Given the description of an element on the screen output the (x, y) to click on. 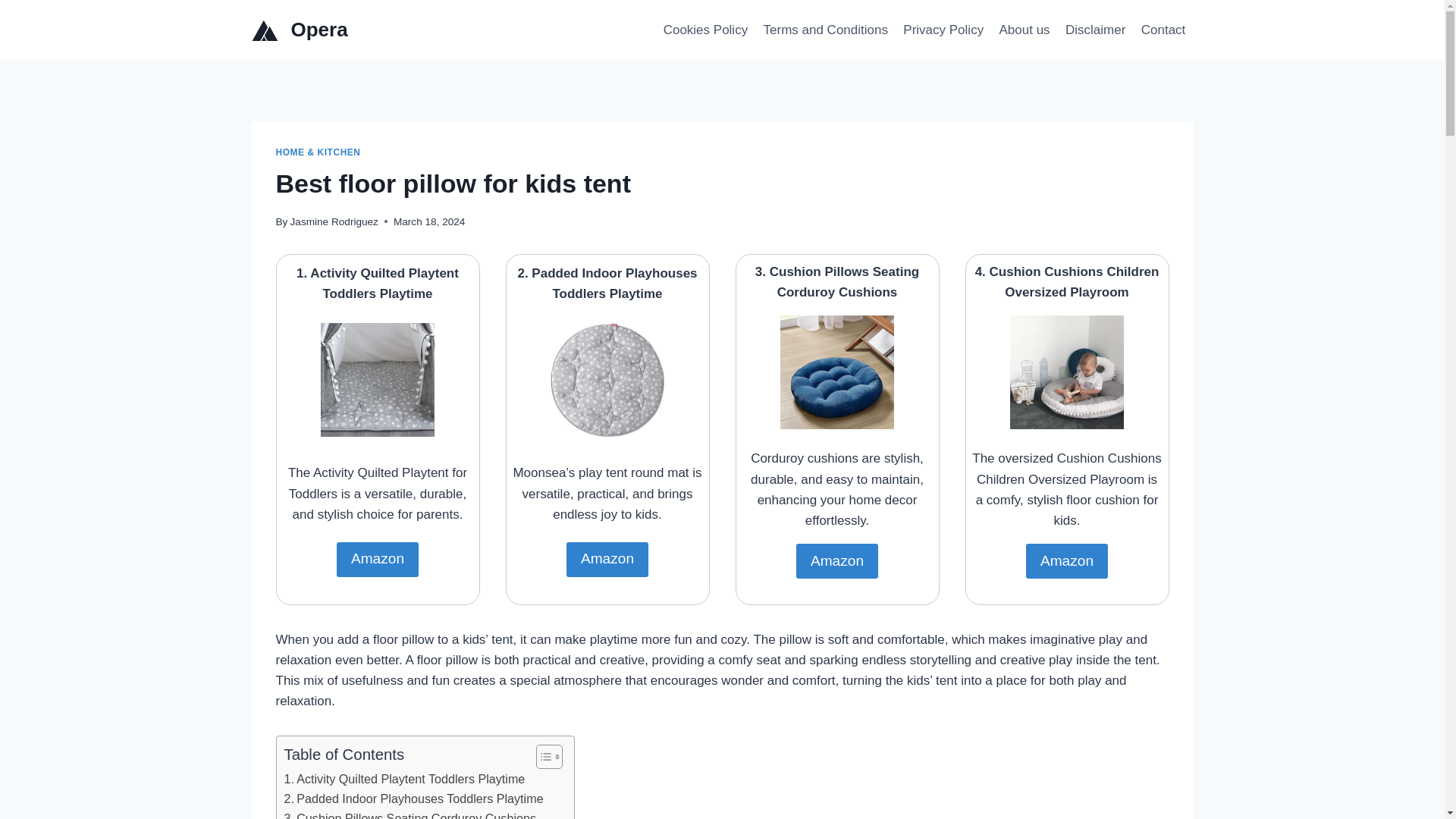
Activity Quilted Playtent Toddlers Playtime (403, 779)
Cookies Policy (705, 30)
Padded Indoor Playhouses Toddlers Playtime (413, 799)
Disclaimer (1096, 30)
Amazon (836, 560)
Cushion Pillows Seating Corduroy Cushions (409, 814)
Privacy Policy (943, 30)
Amazon (1067, 560)
Activity Quilted Playtent Toddlers Playtime (403, 779)
Padded Indoor Playhouses Toddlers Playtime (413, 799)
